Given the description of an element on the screen output the (x, y) to click on. 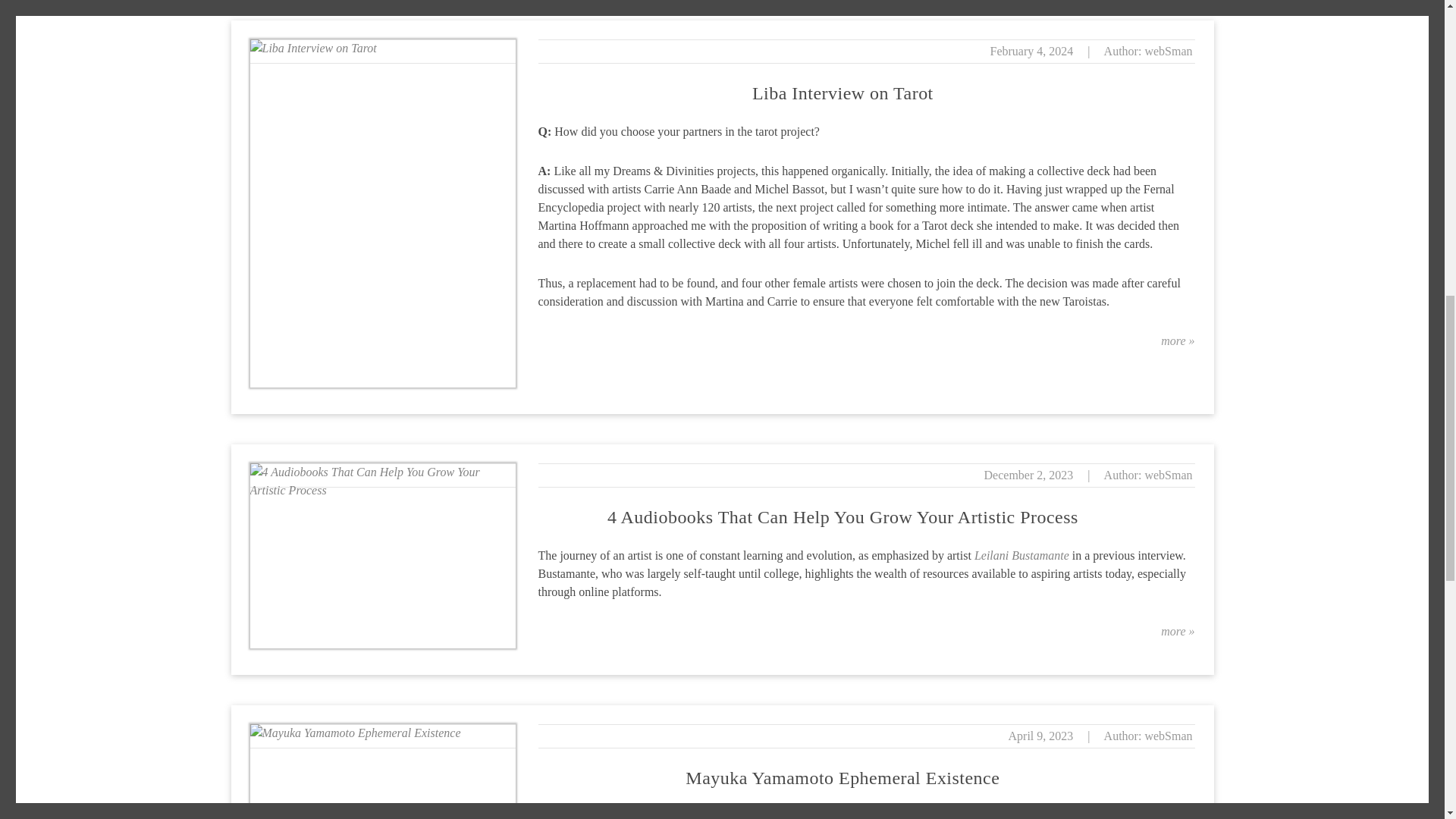
4 Audiobooks That Can Help You Grow Your Artistic Process (842, 516)
Mayuka Yamamoto Ephemeral Existence (841, 777)
Leilani Bustamante (1021, 554)
Liba Interview on Tarot (842, 93)
